Given the description of an element on the screen output the (x, y) to click on. 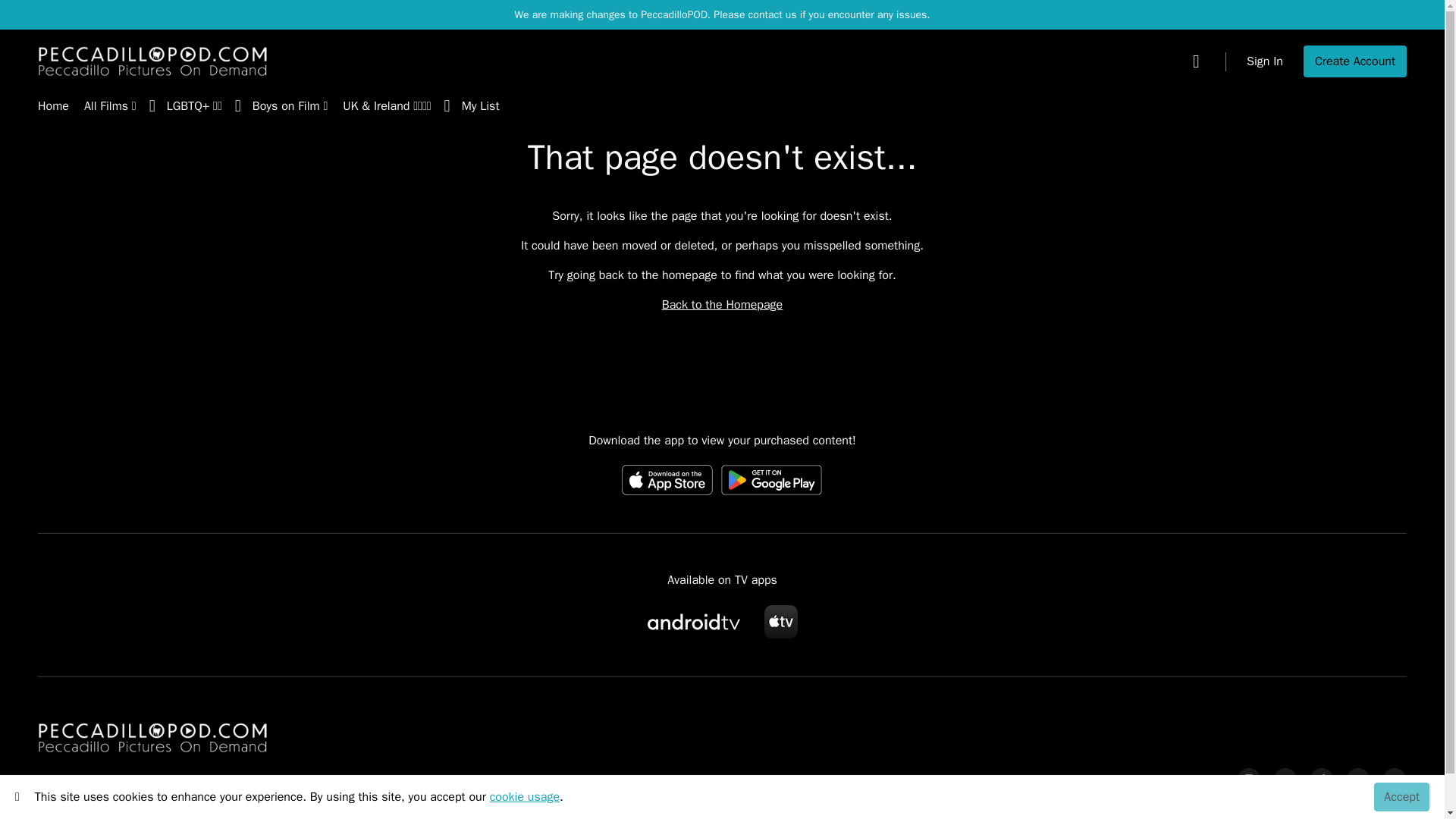
Back to the Homepage (722, 304)
Visit us on Instagram (1248, 780)
Visit us on Facebook (1320, 780)
Sign In (1264, 60)
Visit us on Letterboxd (1393, 780)
My List (480, 107)
cookie usage (524, 796)
Create Account (1354, 60)
Subscribe on Youtube (1284, 780)
